Given the description of an element on the screen output the (x, y) to click on. 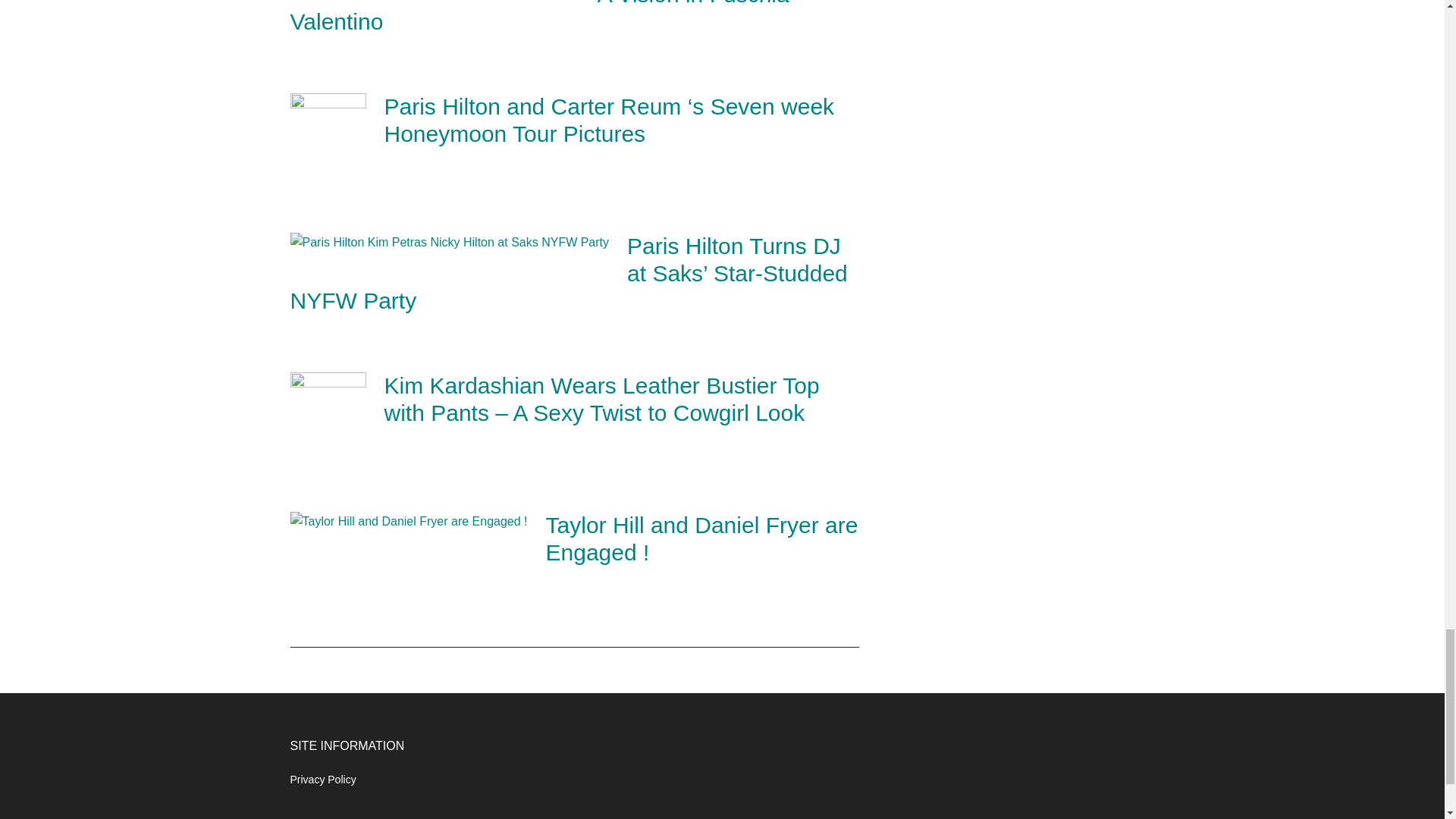
Taylor Hill and Daniel Fryer are Engaged ! (702, 538)
